Given the description of an element on the screen output the (x, y) to click on. 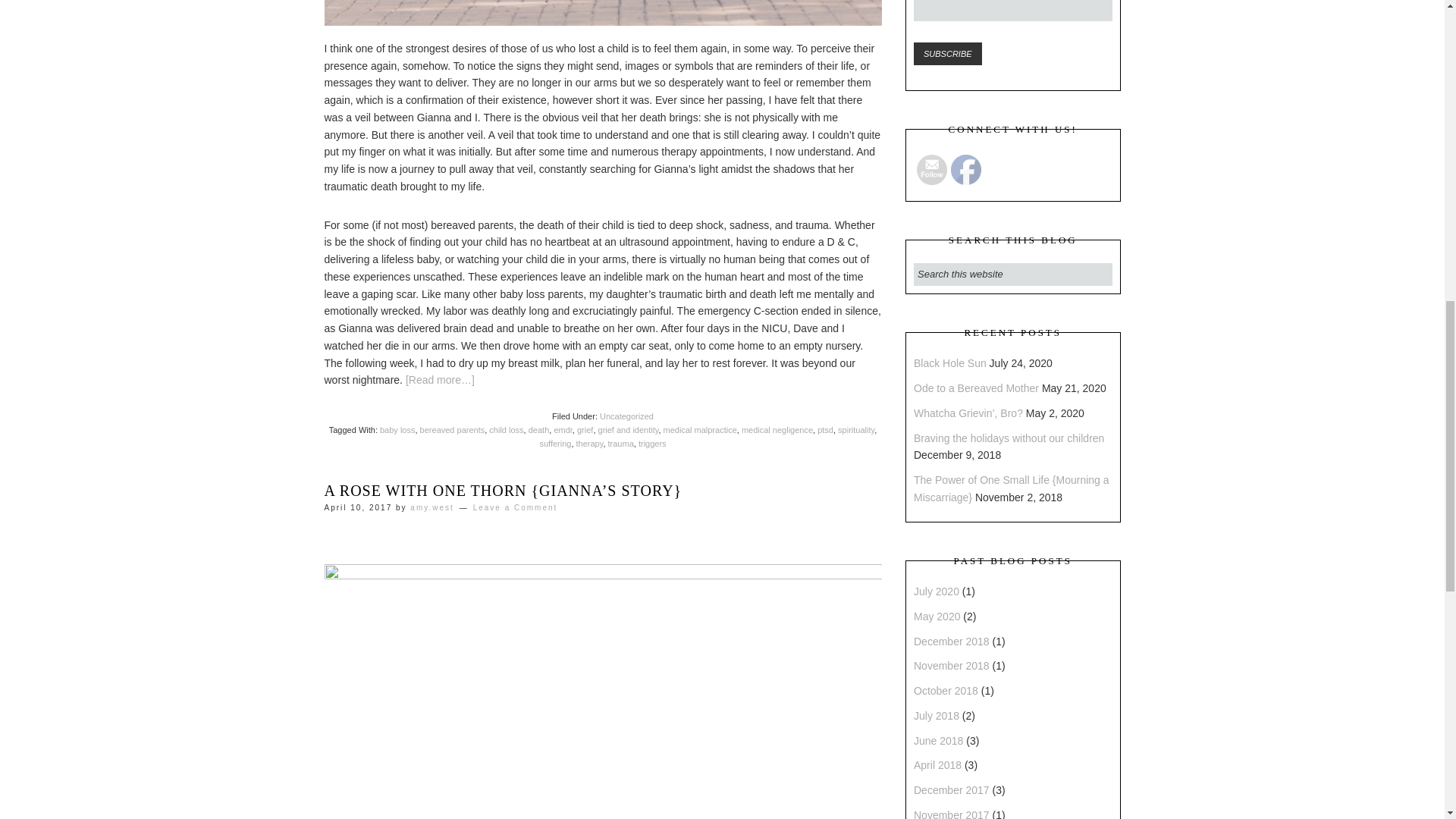
Subscribe (947, 53)
Facebook (965, 169)
suffering (554, 442)
therapy (590, 442)
Leave a Comment (515, 507)
grief (584, 429)
medical negligence (776, 429)
amy.west (432, 507)
emdr (562, 429)
death (539, 429)
spirituality (856, 429)
baby loss (397, 429)
grief and identity (628, 429)
trauma (620, 442)
Uncategorized (626, 415)
